Given the description of an element on the screen output the (x, y) to click on. 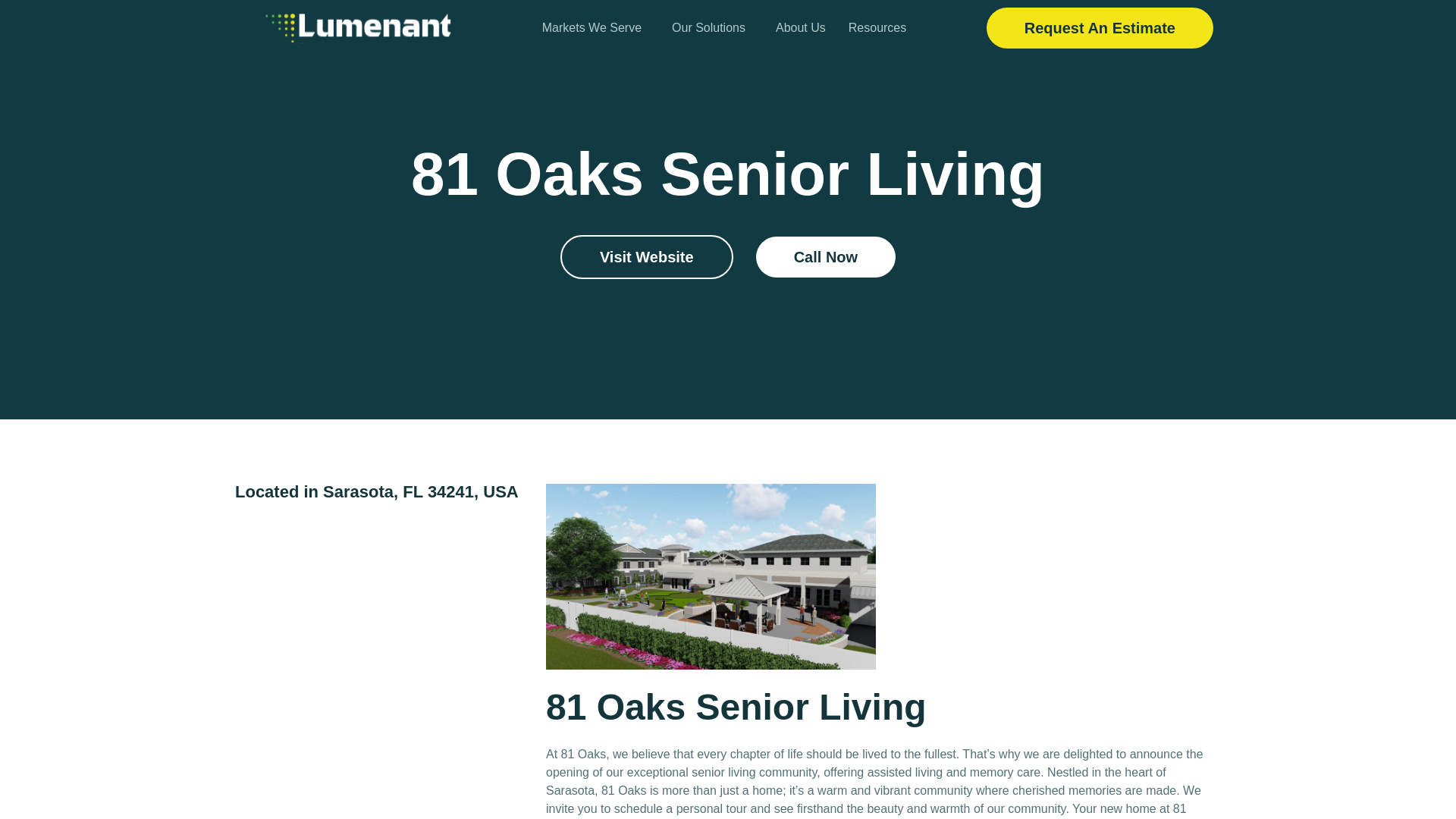
Request An Estimate (1099, 27)
Markets We Serve (596, 27)
About Us (800, 27)
Resources (880, 27)
Our Solutions (712, 27)
